Given the description of an element on the screen output the (x, y) to click on. 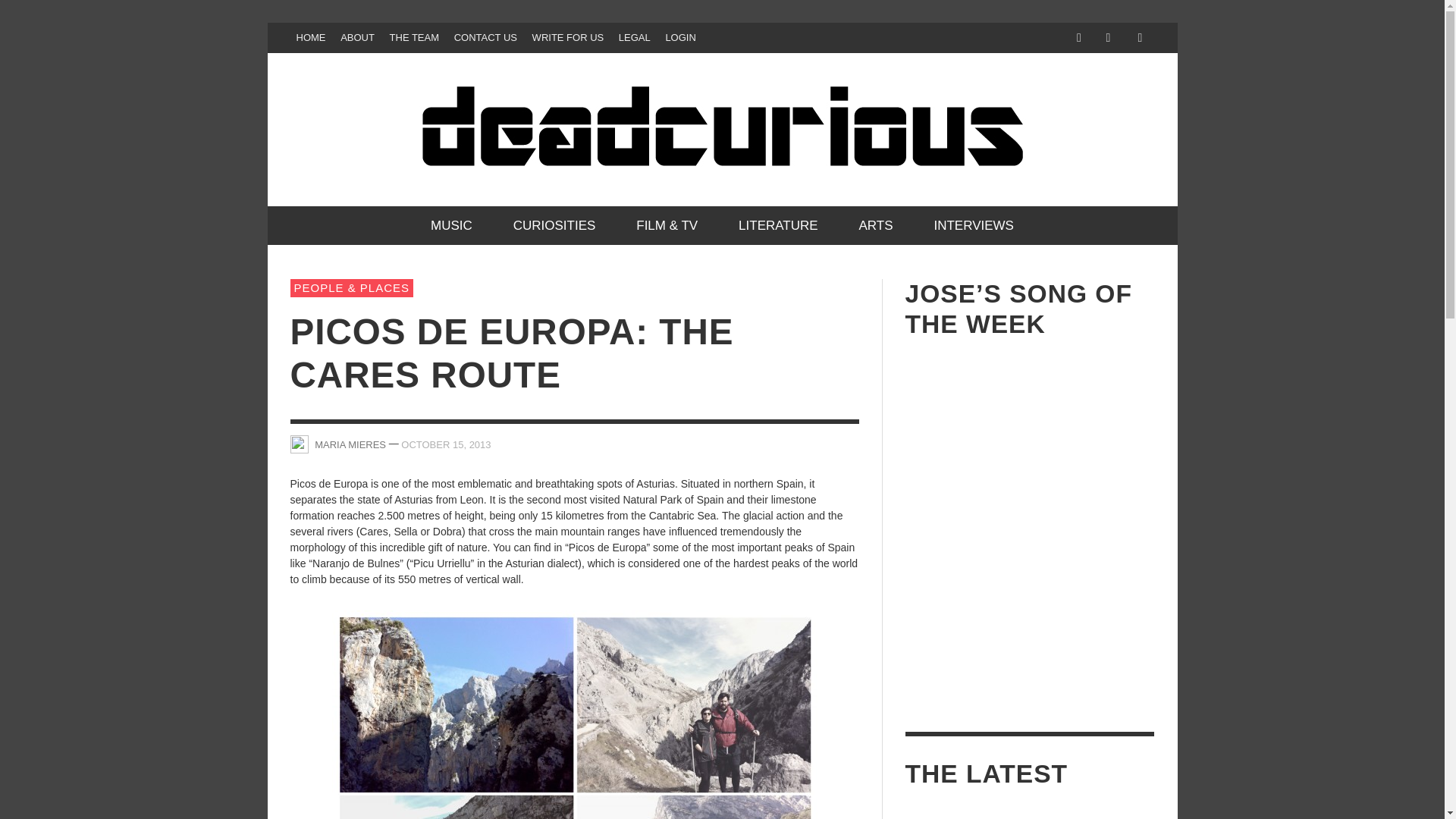
LEGAL (634, 37)
Facebook (1078, 37)
HOME (310, 37)
LOGIN (680, 37)
Twitter (1107, 37)
THE TEAM (414, 37)
CONTACT US (485, 37)
ABOUT (357, 37)
MUSIC (452, 225)
WRITE FOR US (567, 37)
